Given the description of an element on the screen output the (x, y) to click on. 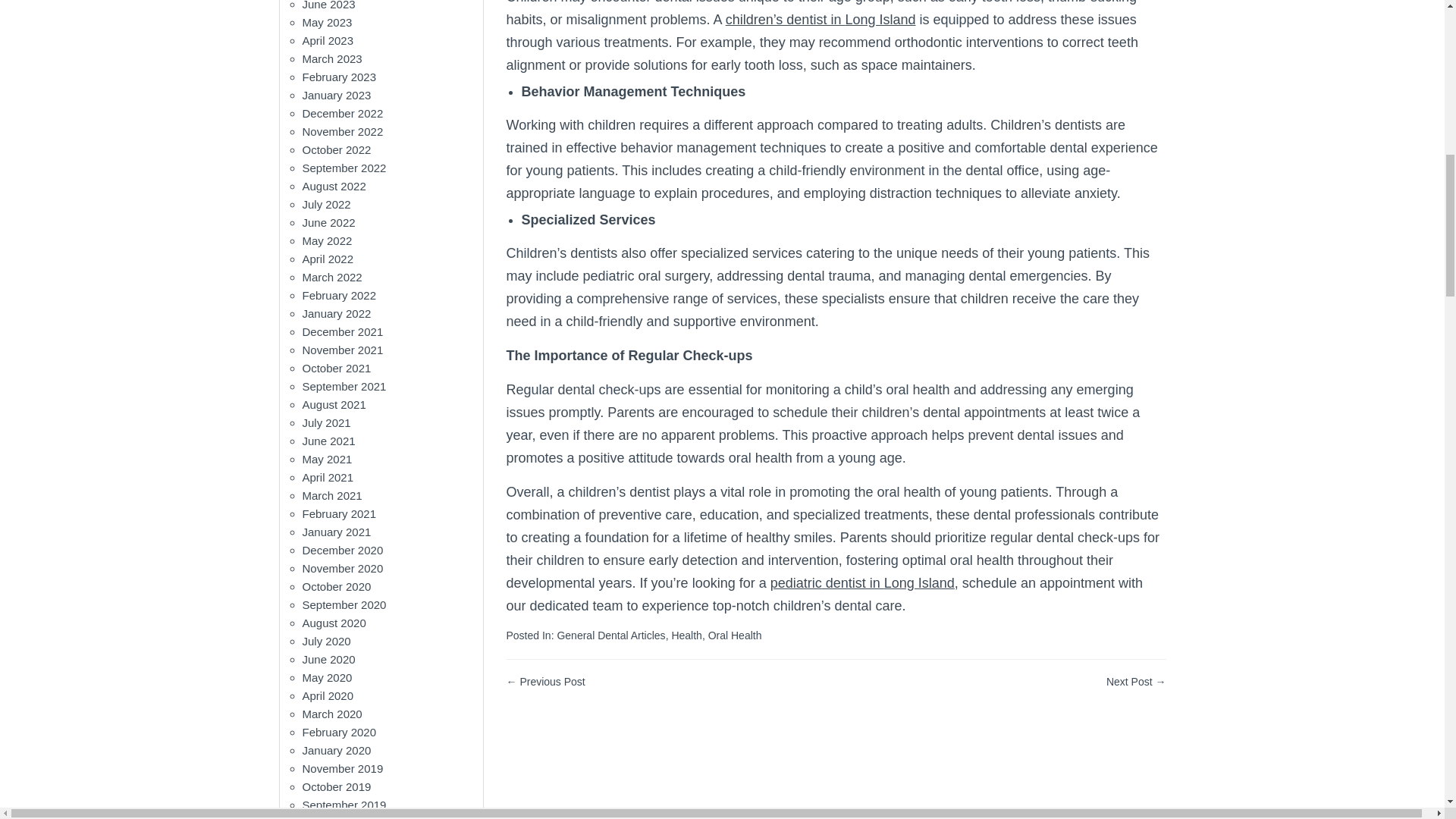
Health (686, 635)
pediatric dentist in Long Island (862, 582)
General Dental Articles (610, 635)
Oral Health (734, 635)
